Given the description of an element on the screen output the (x, y) to click on. 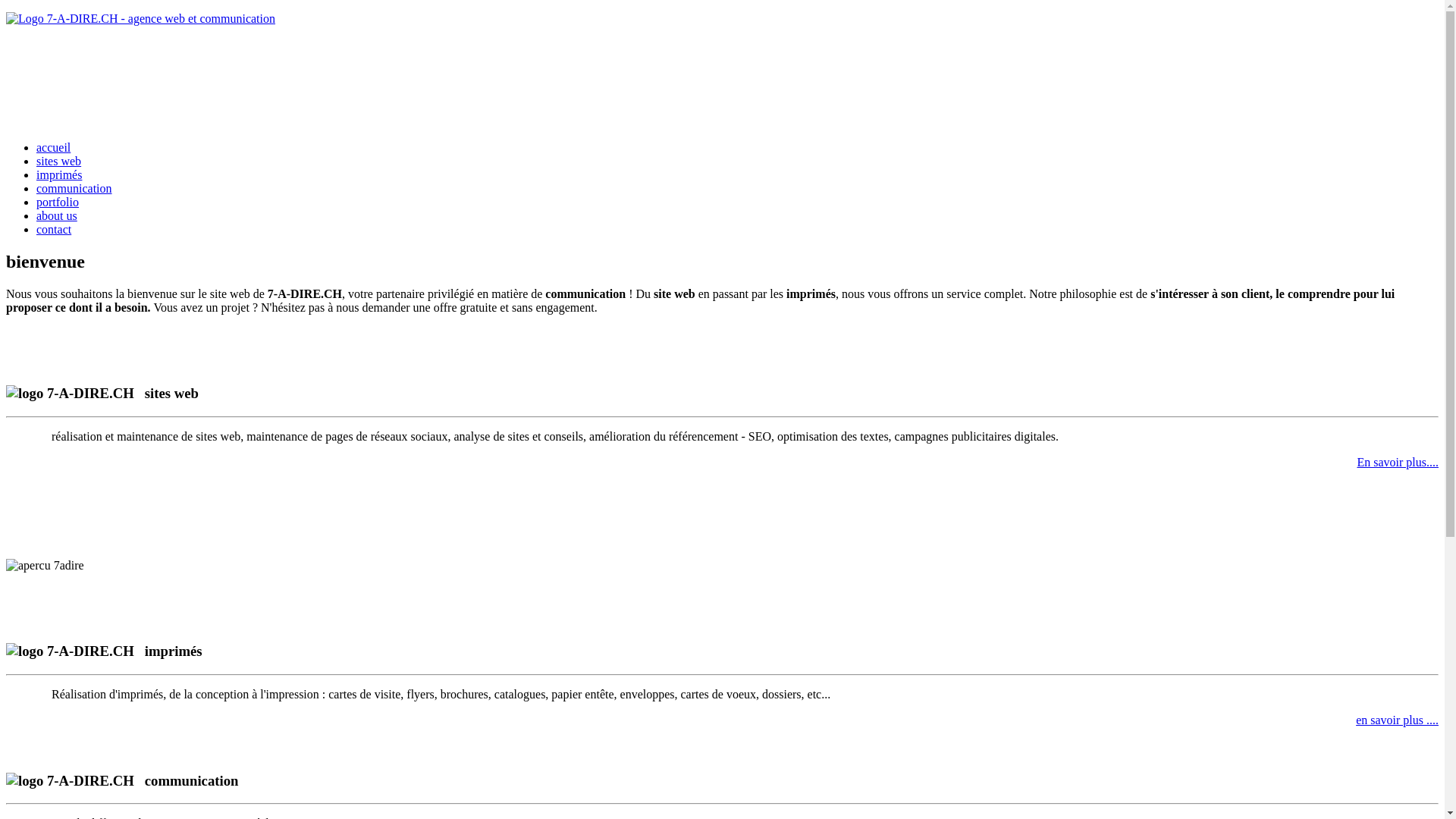
accueil Element type: text (53, 147)
about us Element type: text (56, 215)
portfolio Element type: text (57, 201)
communication Element type: text (74, 188)
contact Element type: text (53, 228)
logo 7-A-DIRE.CH Element type: hover (70, 393)
logo 7-A-DIRE.CH Element type: hover (70, 780)
En savoir plus.... Element type: text (1397, 461)
logo 7-A-DIRE.CH Element type: hover (70, 651)
sites web Element type: text (58, 160)
en savoir plus .... Element type: text (1396, 719)
